Given the description of an element on the screen output the (x, y) to click on. 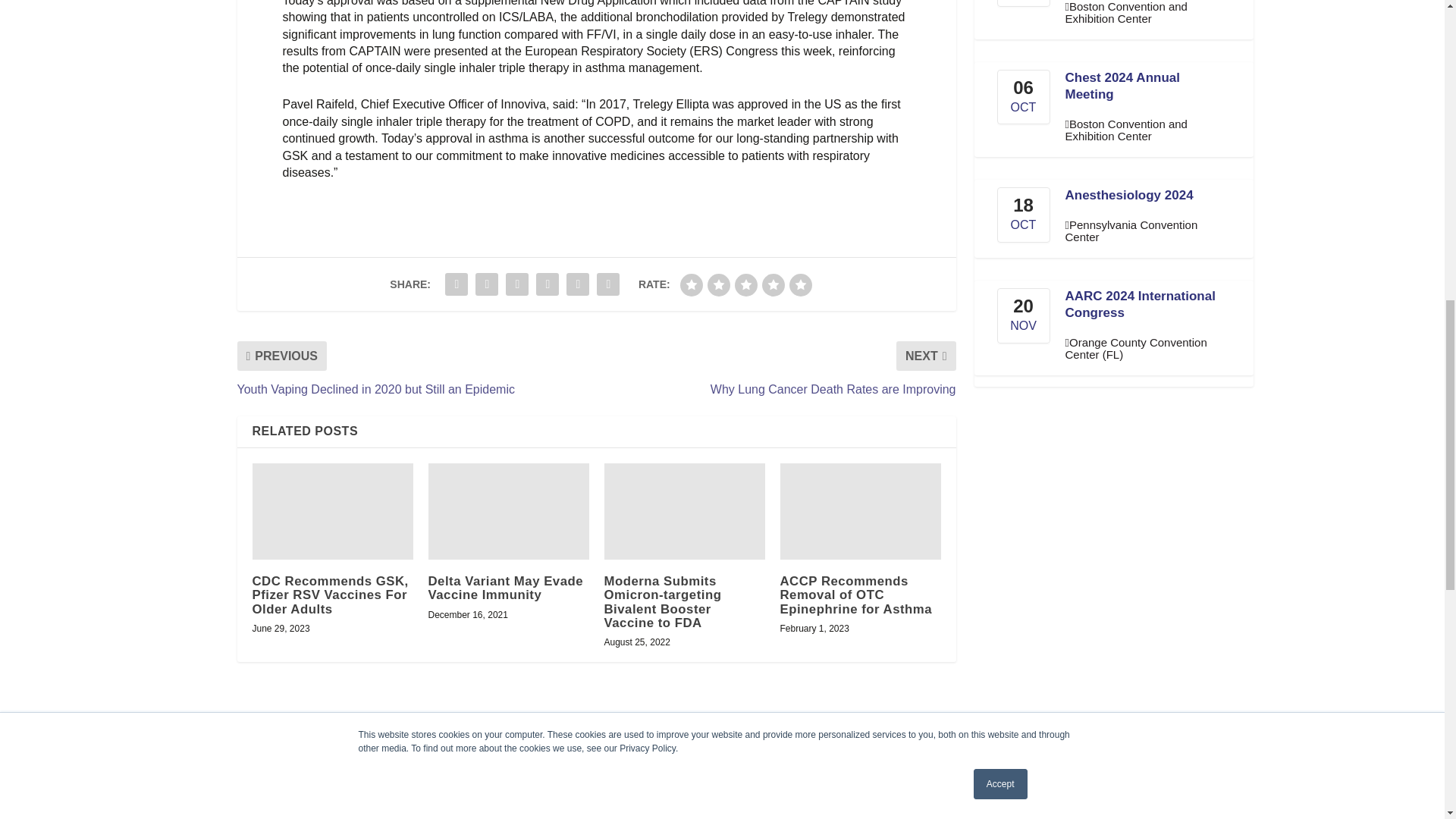
Share "FDA Approves Trelegy Ellipta for Asthma" via Print (607, 284)
CDC Recommends GSK, Pfizer RSV Vaccines For Older Adults (331, 511)
Share "FDA Approves Trelegy Ellipta for Asthma" via Email (577, 284)
poor (718, 284)
Share "FDA Approves Trelegy Ellipta for Asthma" via LinkedIn (517, 284)
regular (746, 284)
gorgeous (800, 284)
Share "FDA Approves Trelegy Ellipta for Asthma" via Twitter (486, 284)
good (772, 284)
Share "FDA Approves Trelegy Ellipta for Asthma" via Buffer (547, 284)
Share "FDA Approves Trelegy Ellipta for Asthma" via Facebook (456, 284)
bad (691, 284)
